Given the description of an element on the screen output the (x, y) to click on. 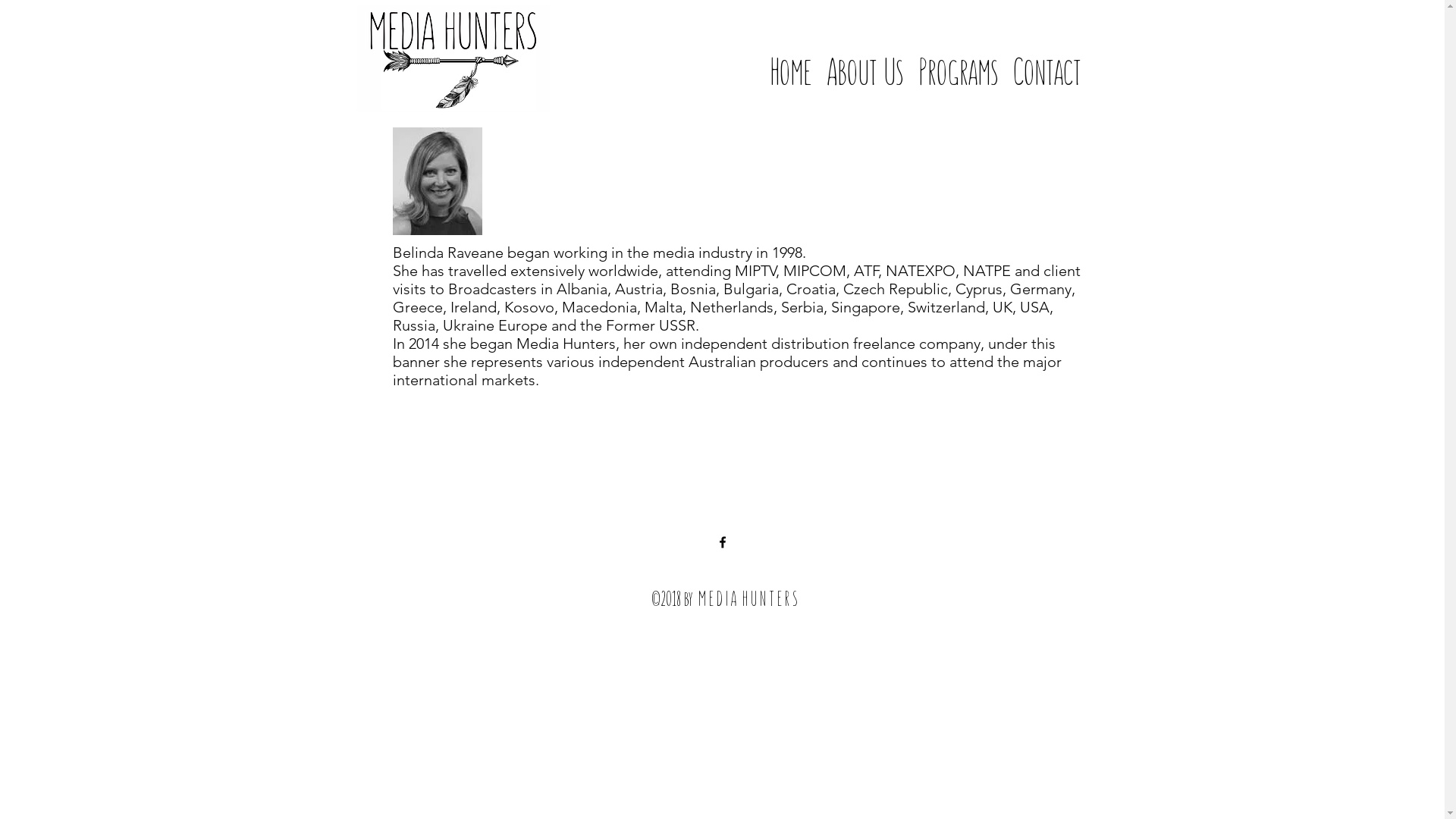
Contact Element type: text (1046, 56)
Programs Element type: text (957, 56)
About Us Element type: text (864, 56)
Home Element type: text (790, 56)
